Given the description of an element on the screen output the (x, y) to click on. 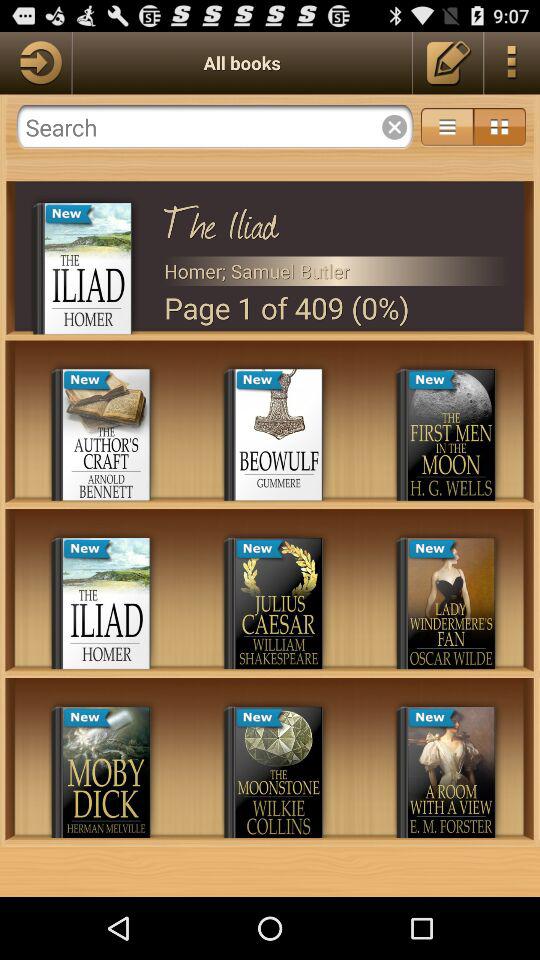
launch the item above the the iliad item (214, 127)
